Given the description of an element on the screen output the (x, y) to click on. 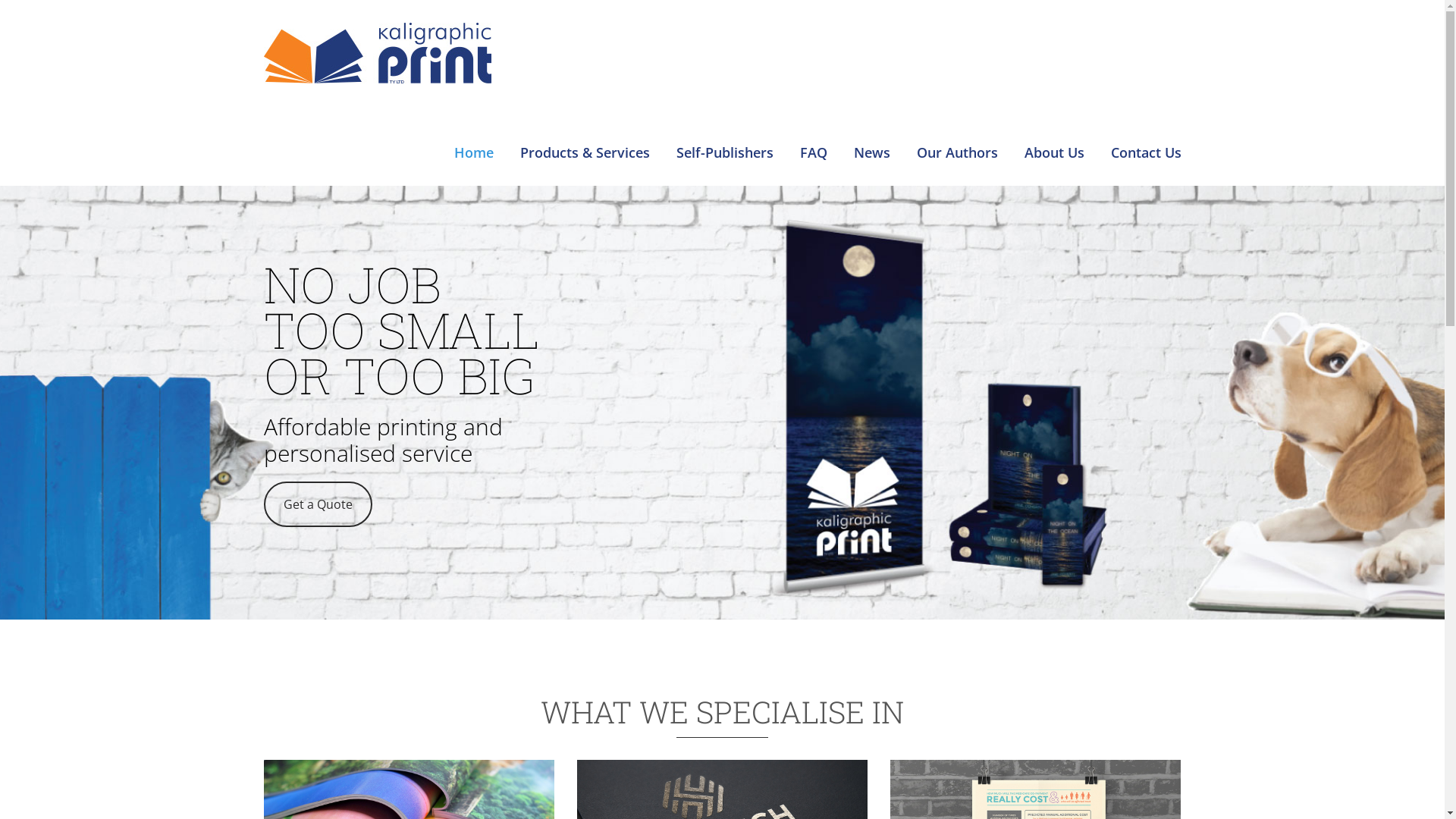
FAQ Element type: text (812, 125)
Self-Publishers Element type: text (724, 125)
Our Authors Element type: text (956, 125)
Get a Quote Element type: text (317, 504)
News Element type: text (871, 125)
Contact Us Element type: text (1145, 125)
About Us Element type: text (1053, 125)
Products & Services Element type: text (584, 125)
Home Element type: text (472, 125)
